Given the description of an element on the screen output the (x, y) to click on. 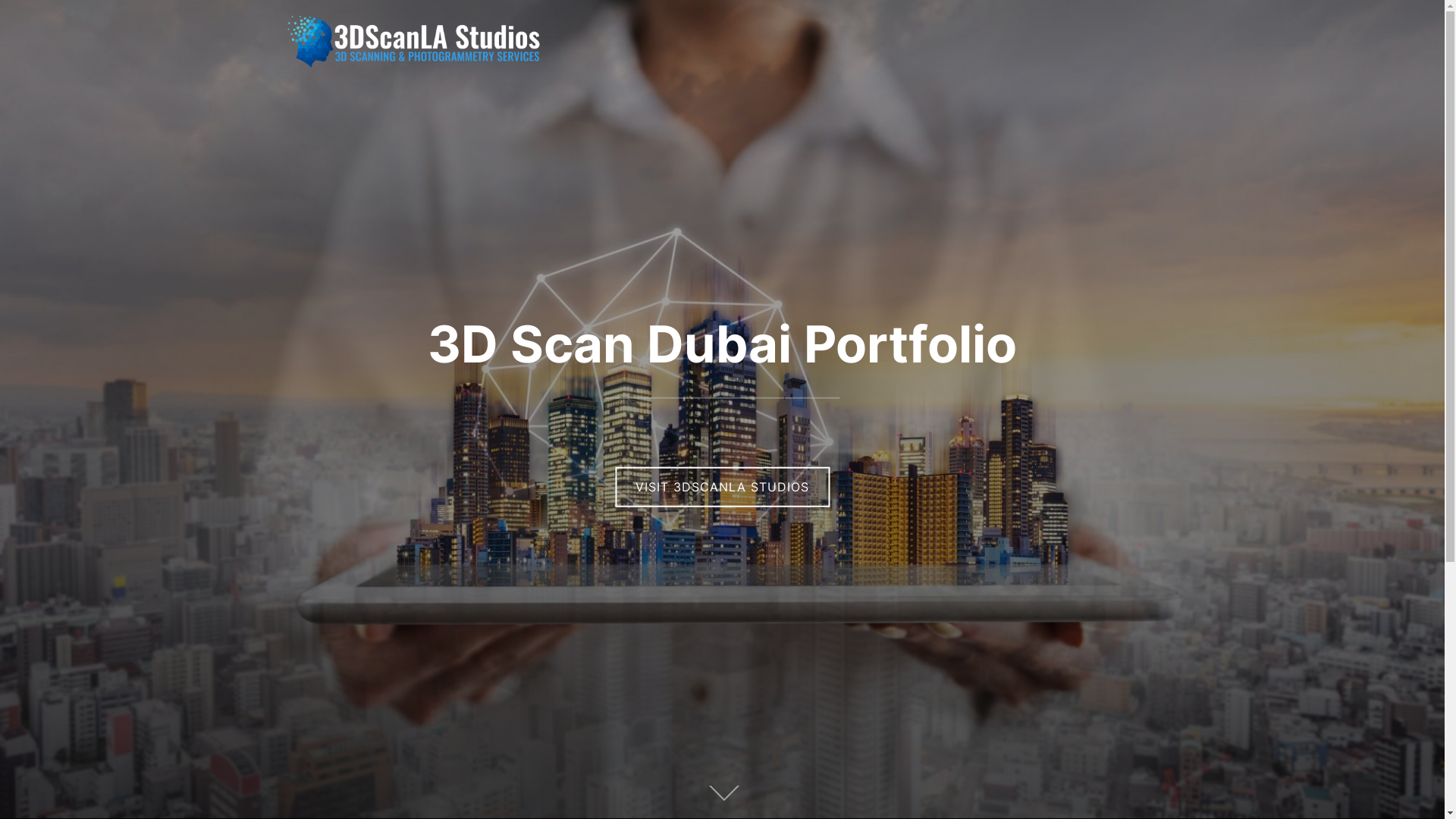
VISIT 3DSCANLA STUDIOS Element type: text (722, 486)
3D Scan Dubai Portfolio Element type: text (721, 343)
